Given the description of an element on the screen output the (x, y) to click on. 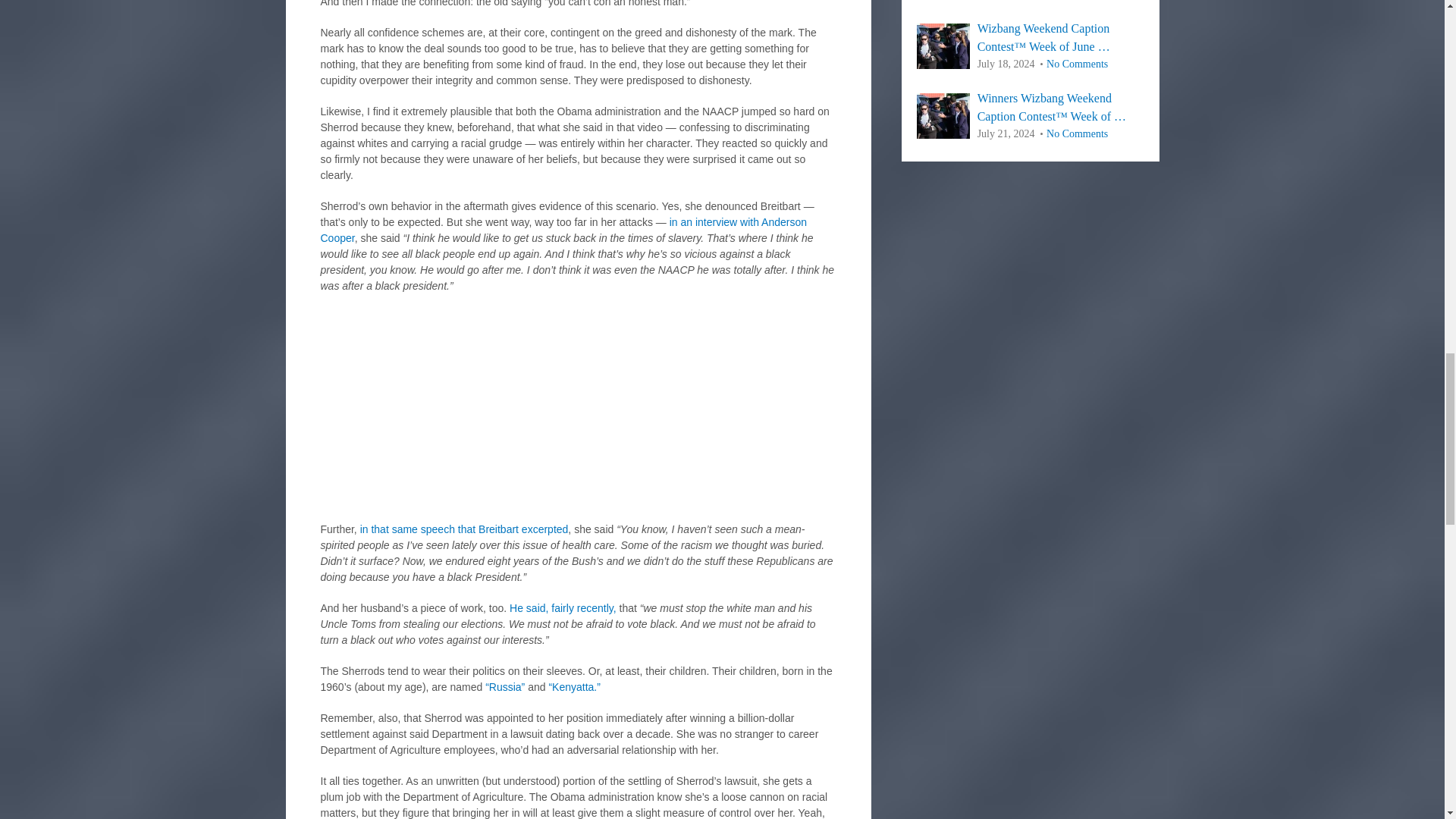
in that same speech that Breitbart excerpted (464, 529)
He said, fairly recently, (562, 607)
Advertisement (577, 415)
in an interview with Anderson Cooper (563, 230)
